Given the description of an element on the screen output the (x, y) to click on. 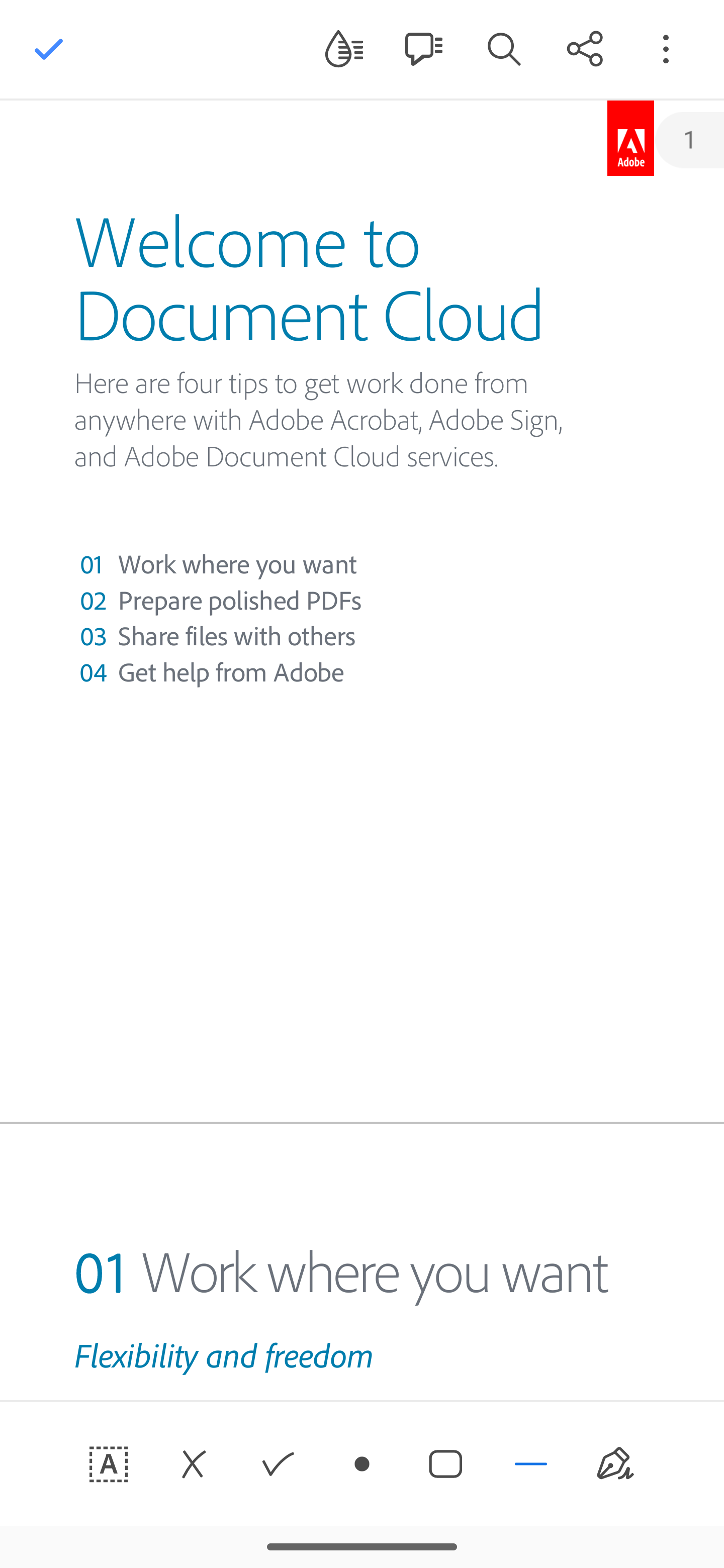
Done (49, 49)
Turn on Liquid Mode (343, 48)
Find keyword in document (503, 48)
Share this document with others (584, 48)
More options (665, 48)
Comments (423, 48)
Fill in form fields (108, 1464)
Add a crossmark (192, 1464)
Add a checkmark (277, 1464)
Add a filled dot (361, 1464)
Draw a rectangle with rounded corners (445, 1464)
Draw a line (530, 1464)
Add your signature or initials (615, 1464)
